Given the description of an element on the screen output the (x, y) to click on. 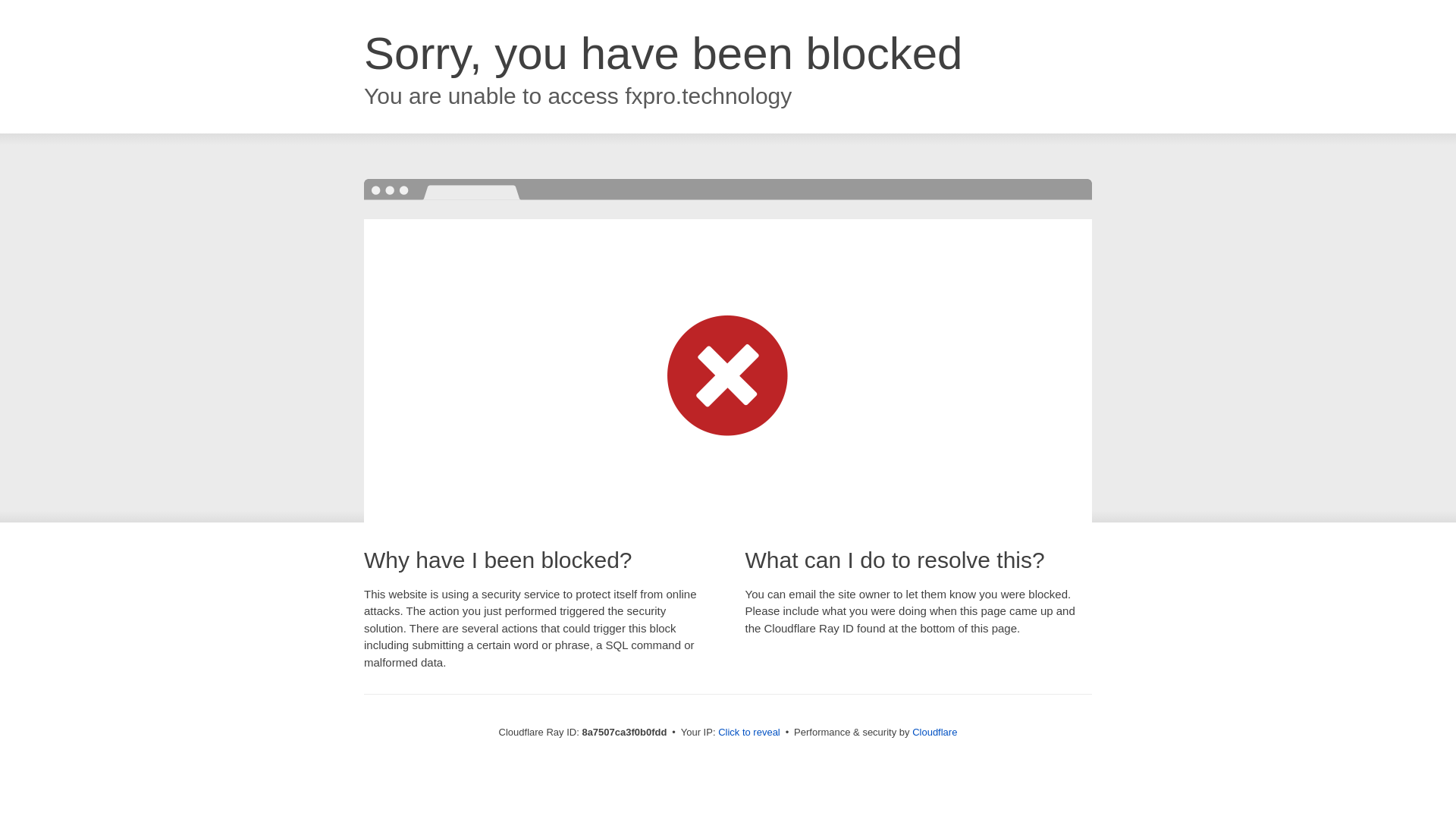
Click to reveal (748, 732)
Cloudflare (934, 731)
